Given the description of an element on the screen output the (x, y) to click on. 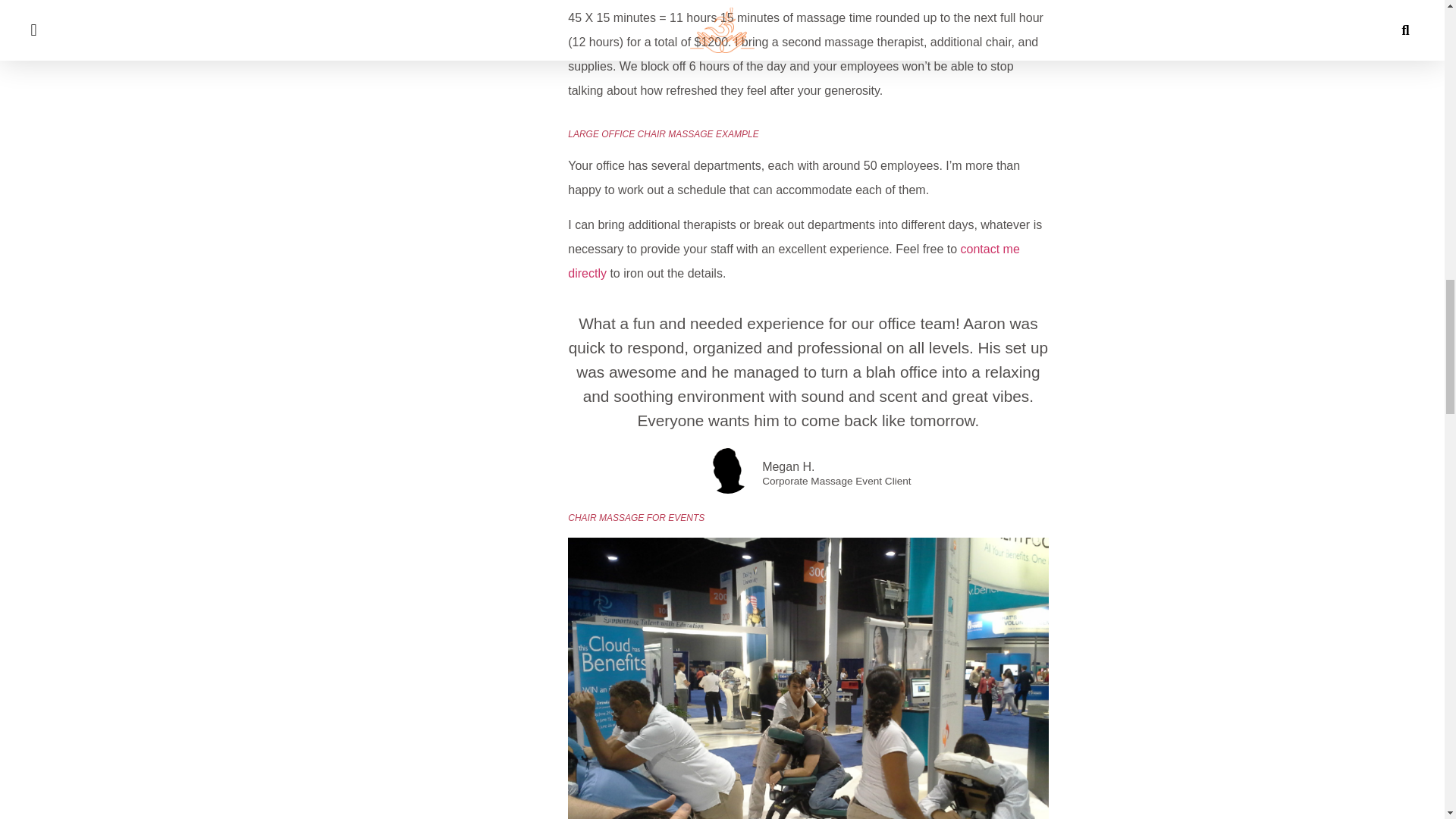
contact me directly (793, 261)
